Given the description of an element on the screen output the (x, y) to click on. 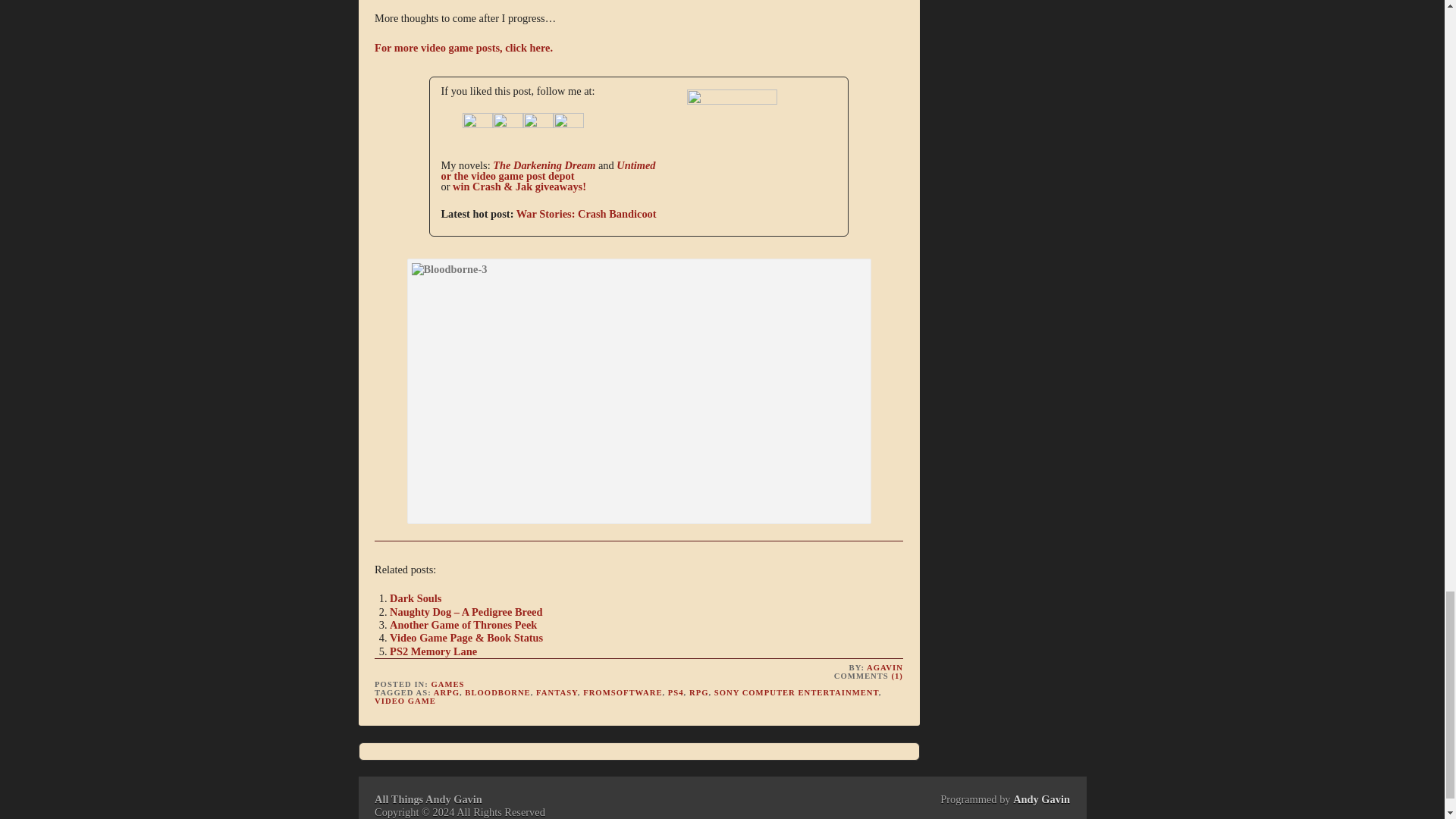
Dark Souls (415, 598)
The Darkening Dream (544, 164)
RSS via Feedburner (568, 123)
subscribe by email (537, 128)
Andy Gavin: Video Game Creator (521, 175)
Another Game of Thrones Peek (463, 624)
Naughty Dark Contest (519, 186)
Untimed (716, 101)
Untimed (548, 169)
